Given the description of an element on the screen output the (x, y) to click on. 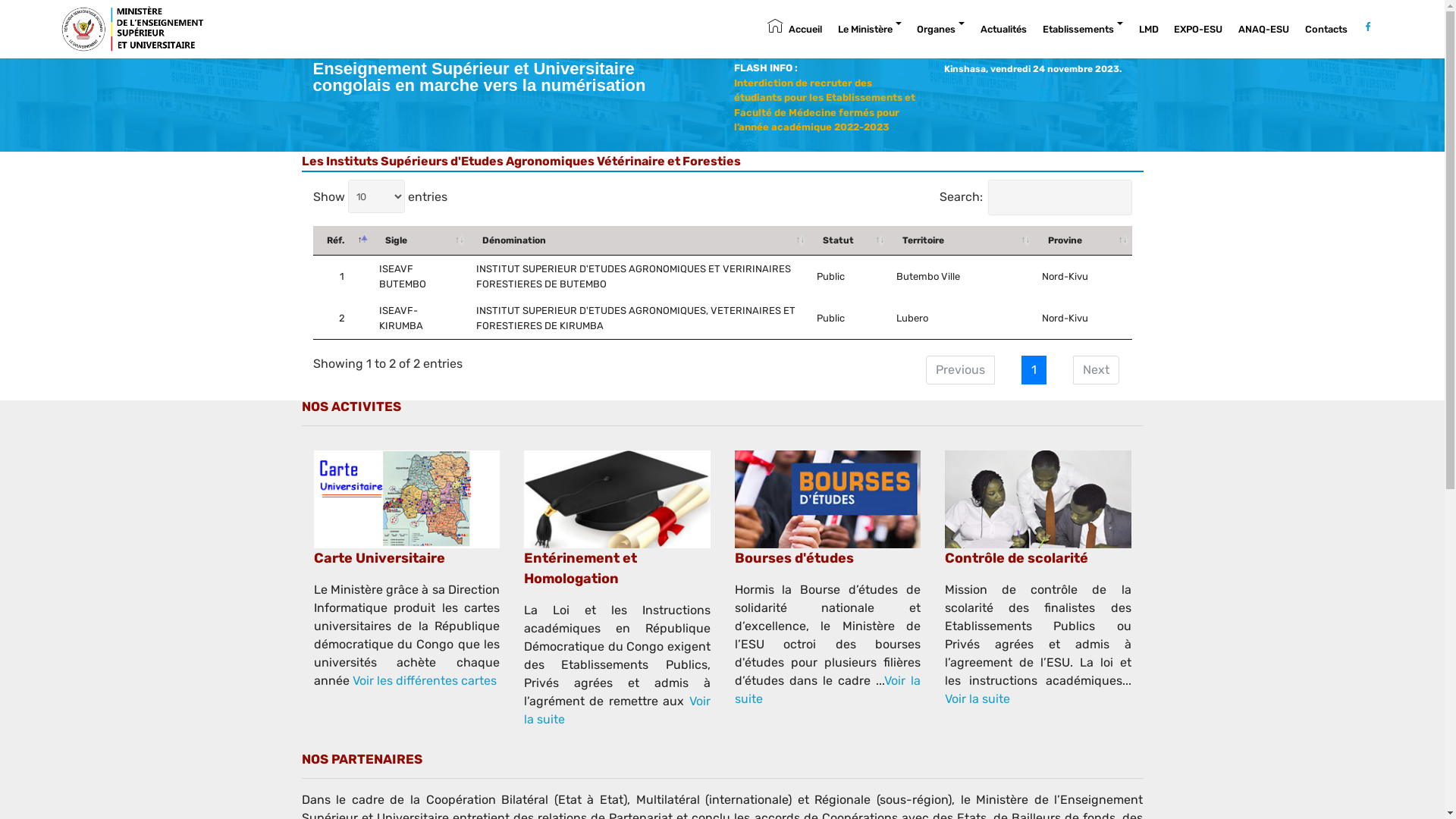
Accueil Element type: text (794, 29)
Voir la suite Element type: text (617, 709)
ANAQ-ESU Element type: text (1263, 29)
Voir la suite Element type: text (827, 689)
Organes Element type: text (940, 29)
Next Element type: text (1095, 369)
Voir la suite Element type: text (977, 698)
1 Element type: text (1032, 369)
Previous Element type: text (959, 369)
EXPO-ESU Element type: text (1197, 29)
LMD Element type: text (1148, 29)
Etablissements Element type: text (1082, 29)
Contacts Element type: text (1326, 29)
